Given the description of an element on the screen output the (x, y) to click on. 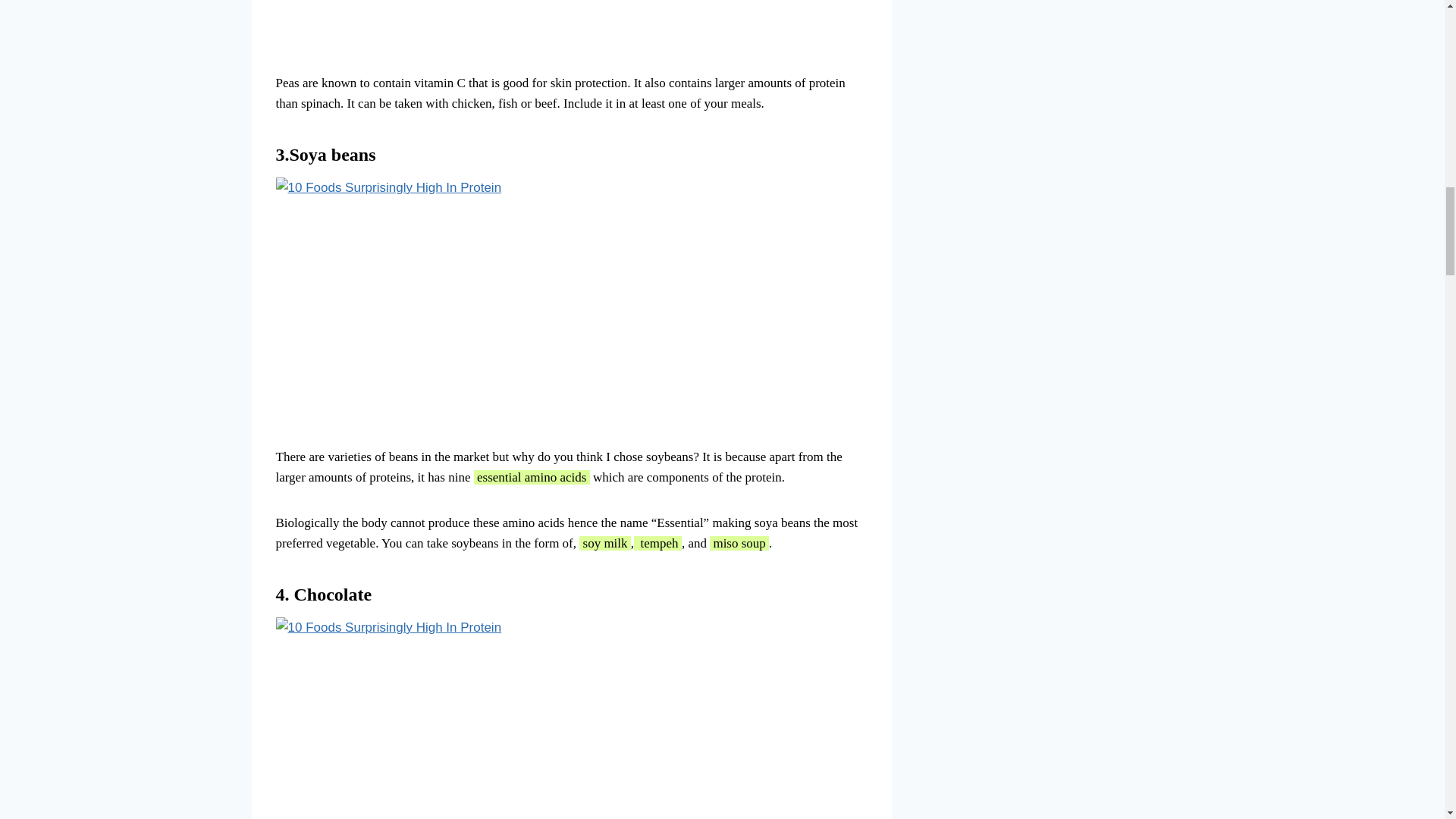
10 Foods Surprisingly High In Protein 4 (460, 718)
10 Foods Surprisingly High In Protein 3 (463, 277)
10 Foods Surprisingly High In Protein 2 (478, 24)
